Given the description of an element on the screen output the (x, y) to click on. 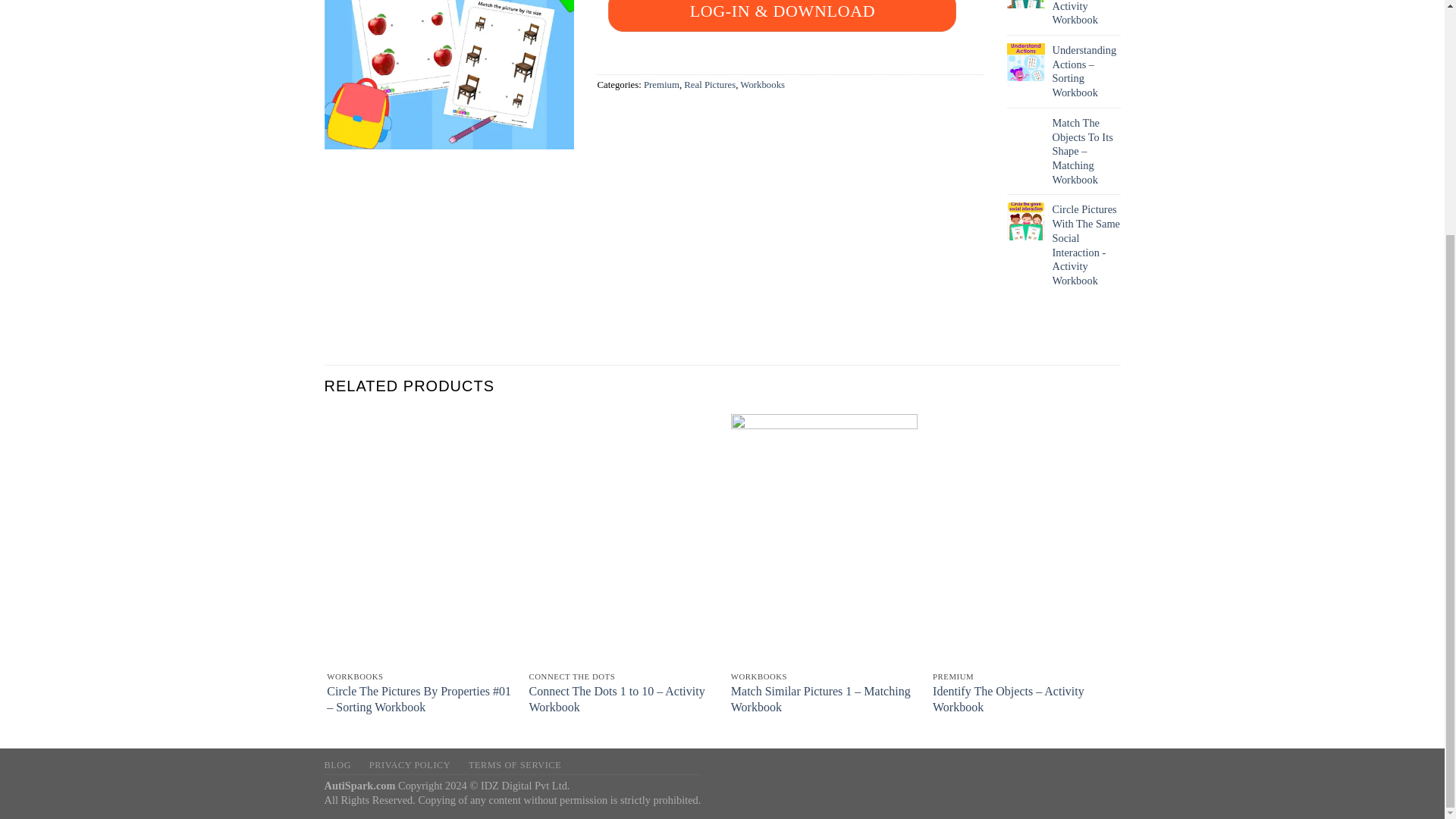
Real Pictures (709, 84)
Workbooks (761, 84)
Premium (661, 84)
Prepositions Workbook - Activity Workbook (1086, 13)
